Given the description of an element on the screen output the (x, y) to click on. 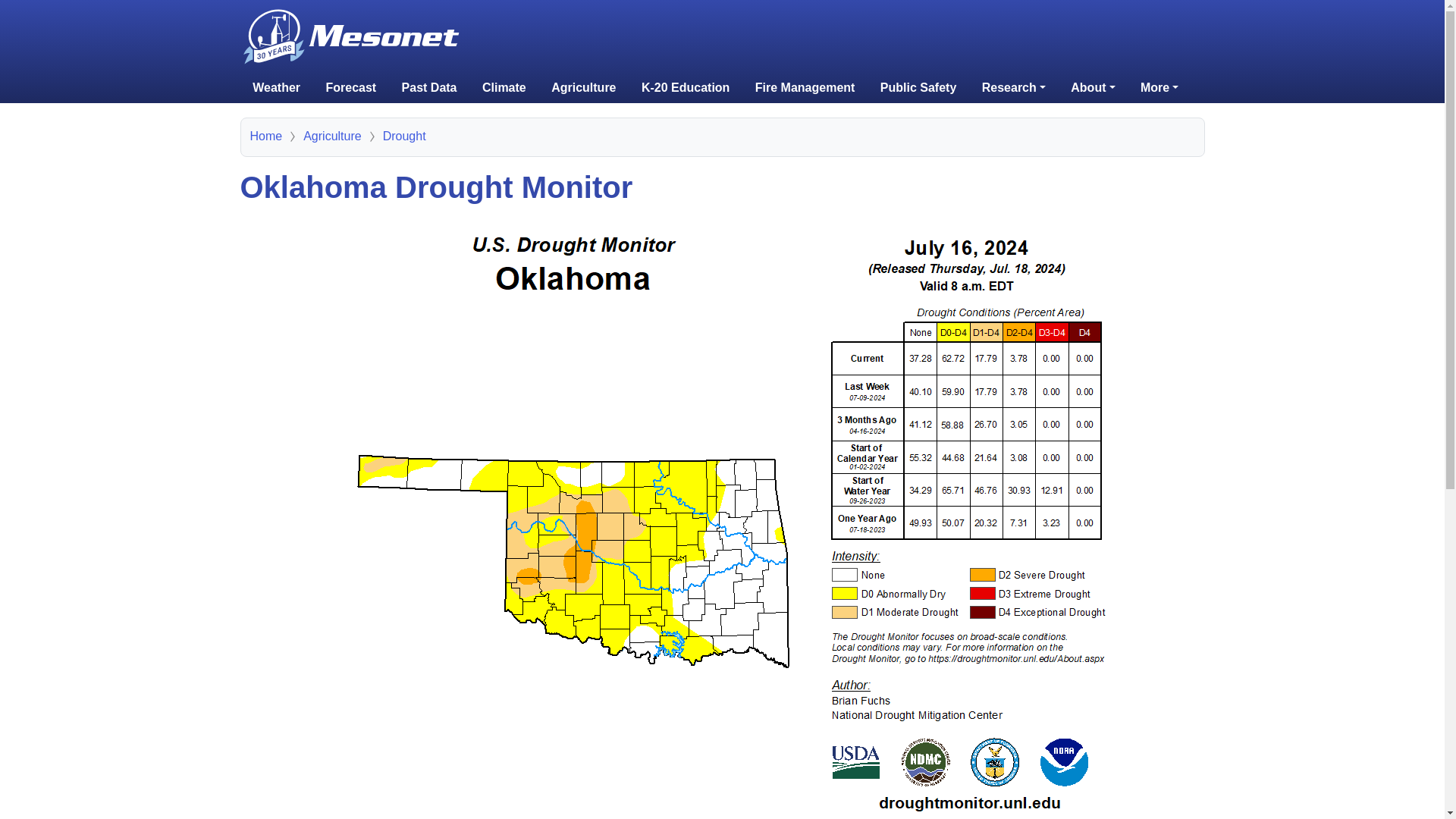
Home (266, 135)
Drought (404, 135)
Climate (504, 87)
Weather (275, 87)
Forecast (349, 87)
Agriculture (582, 87)
Agriculture (331, 135)
Home (353, 16)
About (1092, 87)
Public Safety (918, 87)
Fire Management (805, 87)
More (1159, 87)
Research (1013, 87)
Past Data (429, 87)
Additional Mesonet Links (1159, 87)
